Given the description of an element on the screen output the (x, y) to click on. 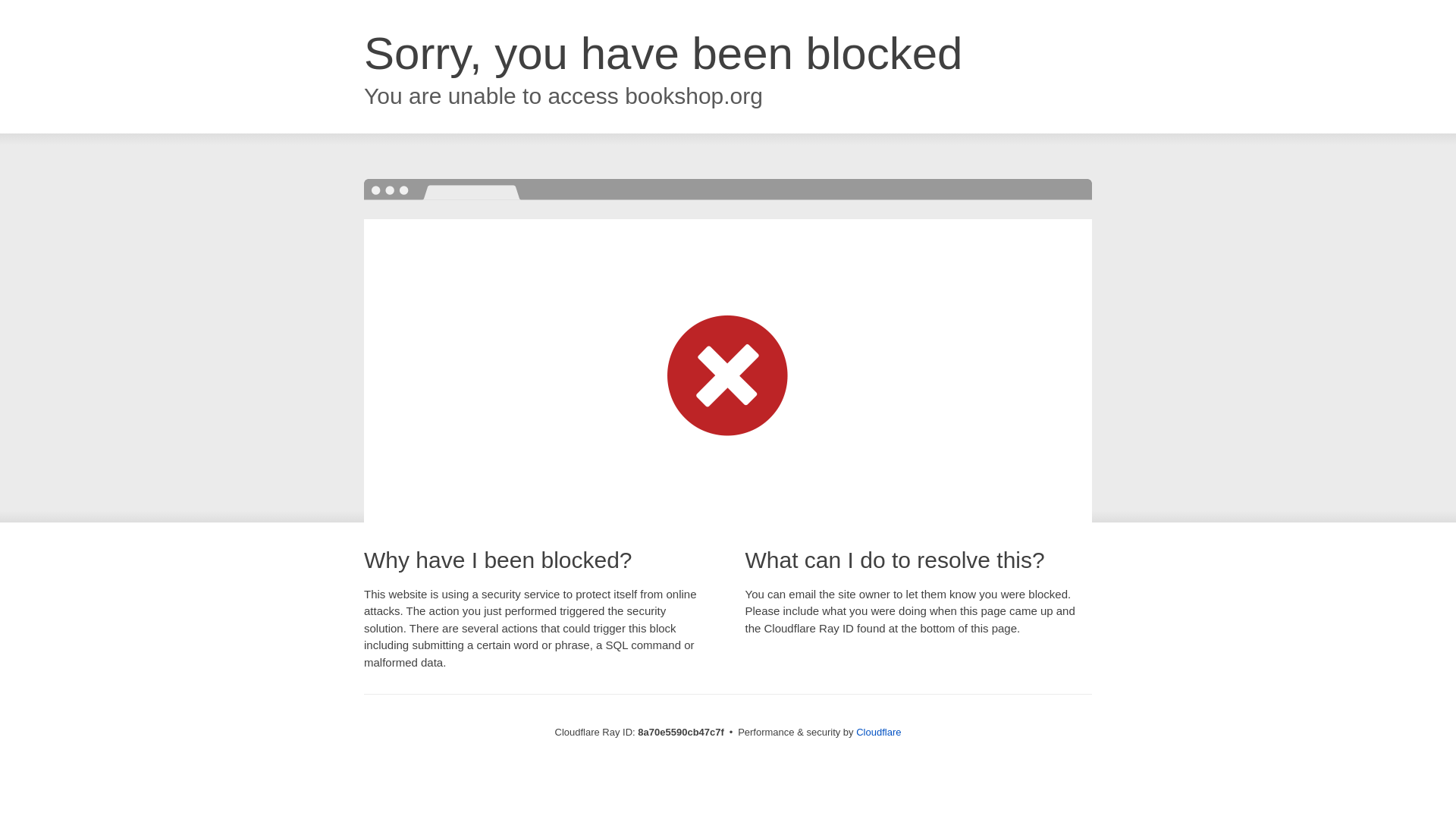
Cloudflare (878, 731)
